Given the description of an element on the screen output the (x, y) to click on. 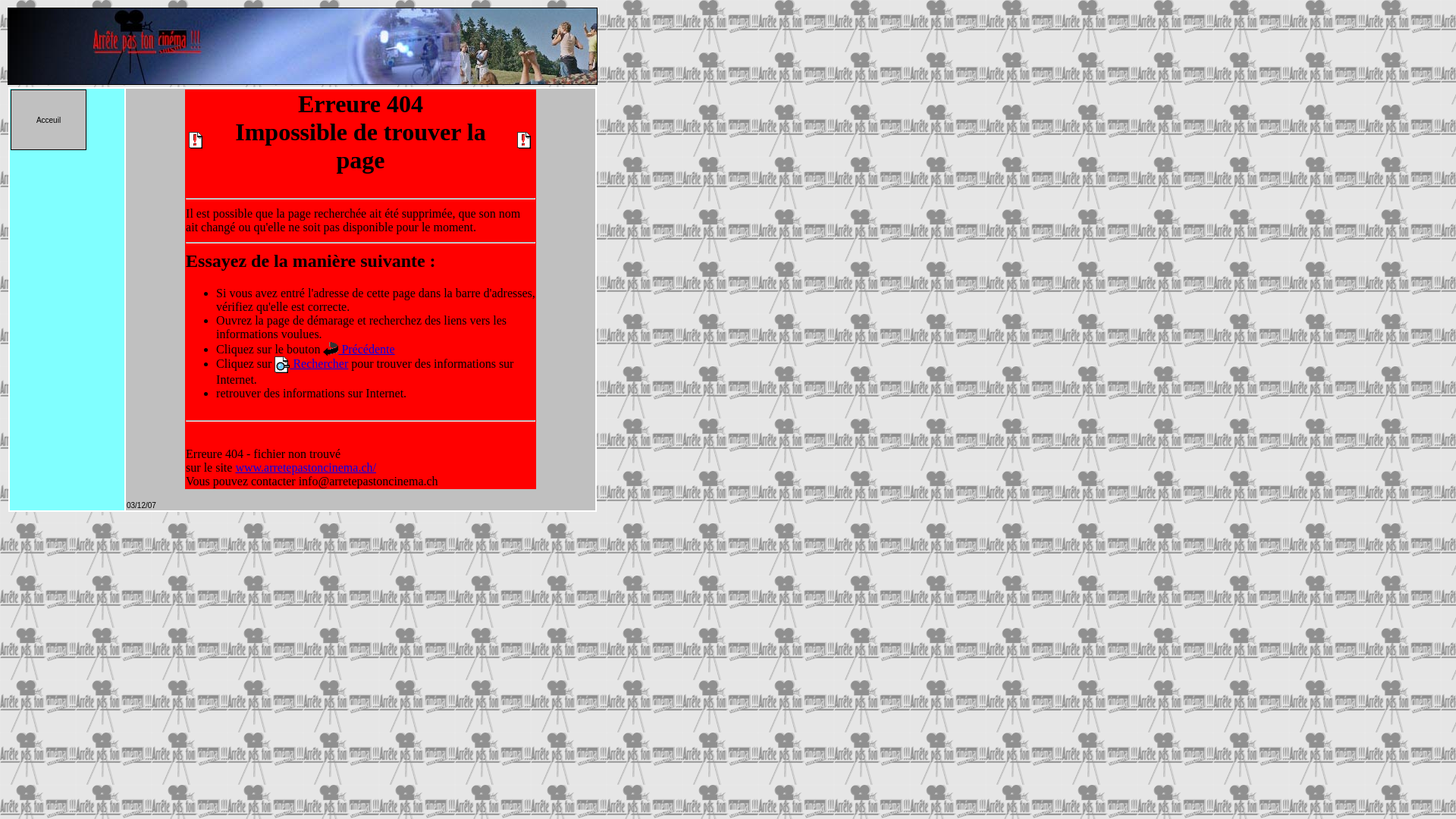
Rechercher Element type: text (318, 363)
www.arretepastoncinema.ch/ Element type: text (305, 467)
